Given the description of an element on the screen output the (x, y) to click on. 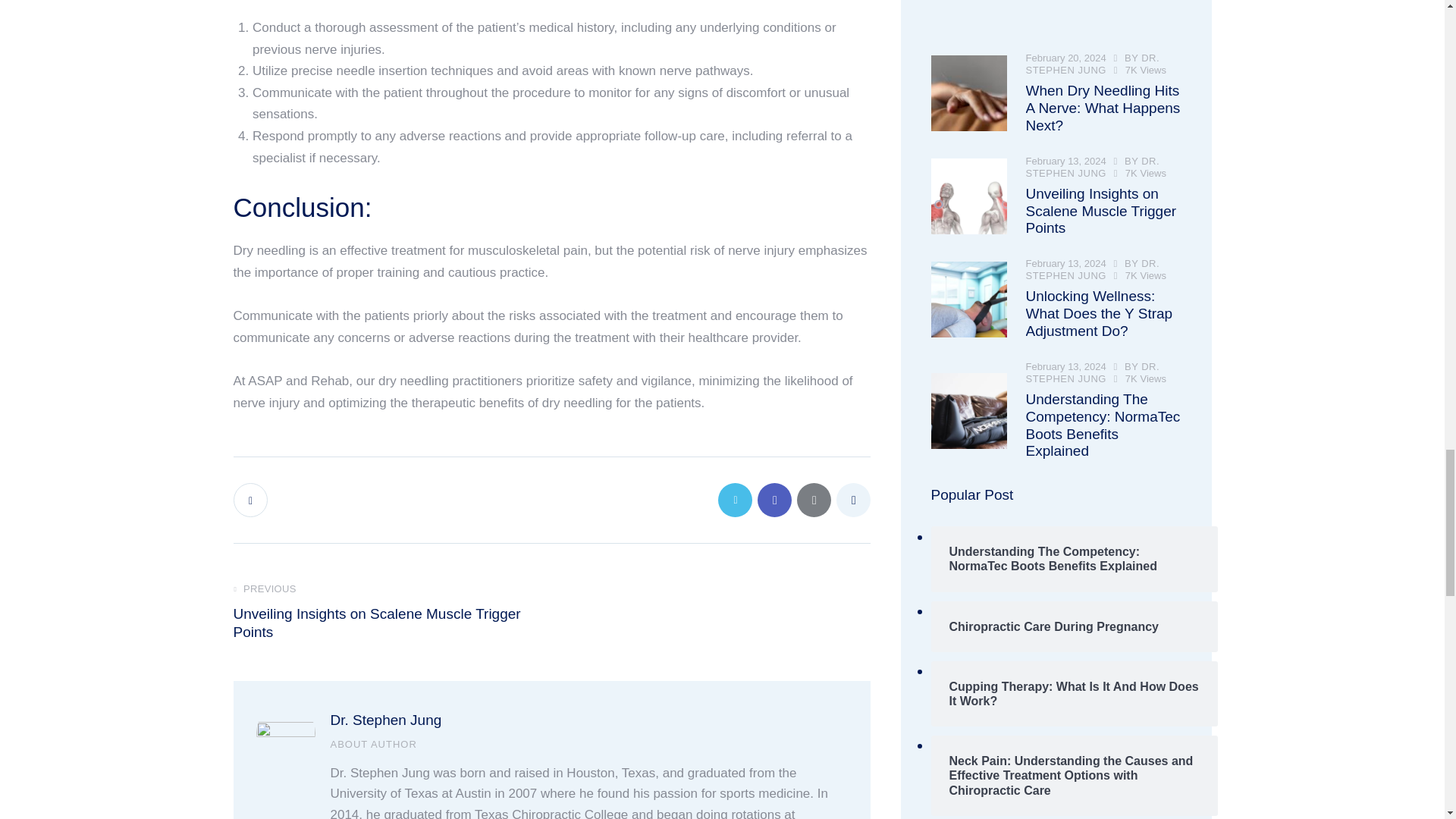
Copy URL to clipboard (852, 499)
Like (251, 499)
